Given the description of an element on the screen output the (x, y) to click on. 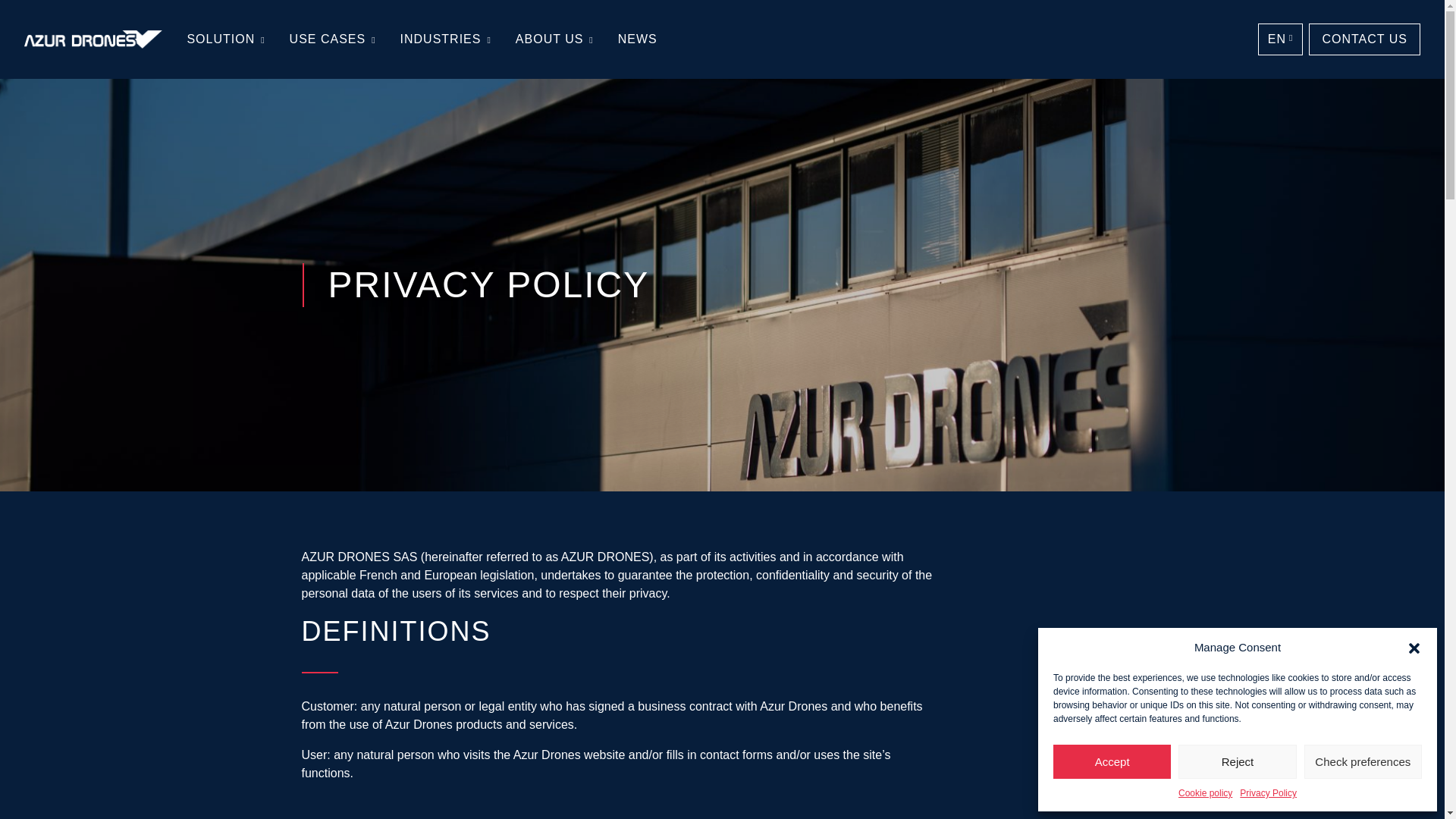
INDUSTRIES (445, 38)
INDUSTRIES (445, 38)
NEWS (637, 38)
SOLUTION (225, 38)
Accept (1111, 761)
SOLUTION (225, 38)
Cookie policy (1204, 793)
EN (1280, 39)
NEWS (637, 38)
DEFINITIONS (617, 644)
Reject (1236, 761)
ABOUT US (554, 38)
USE CASES (333, 38)
Privacy Policy (1268, 793)
Check preferences (1363, 761)
